Given the description of an element on the screen output the (x, y) to click on. 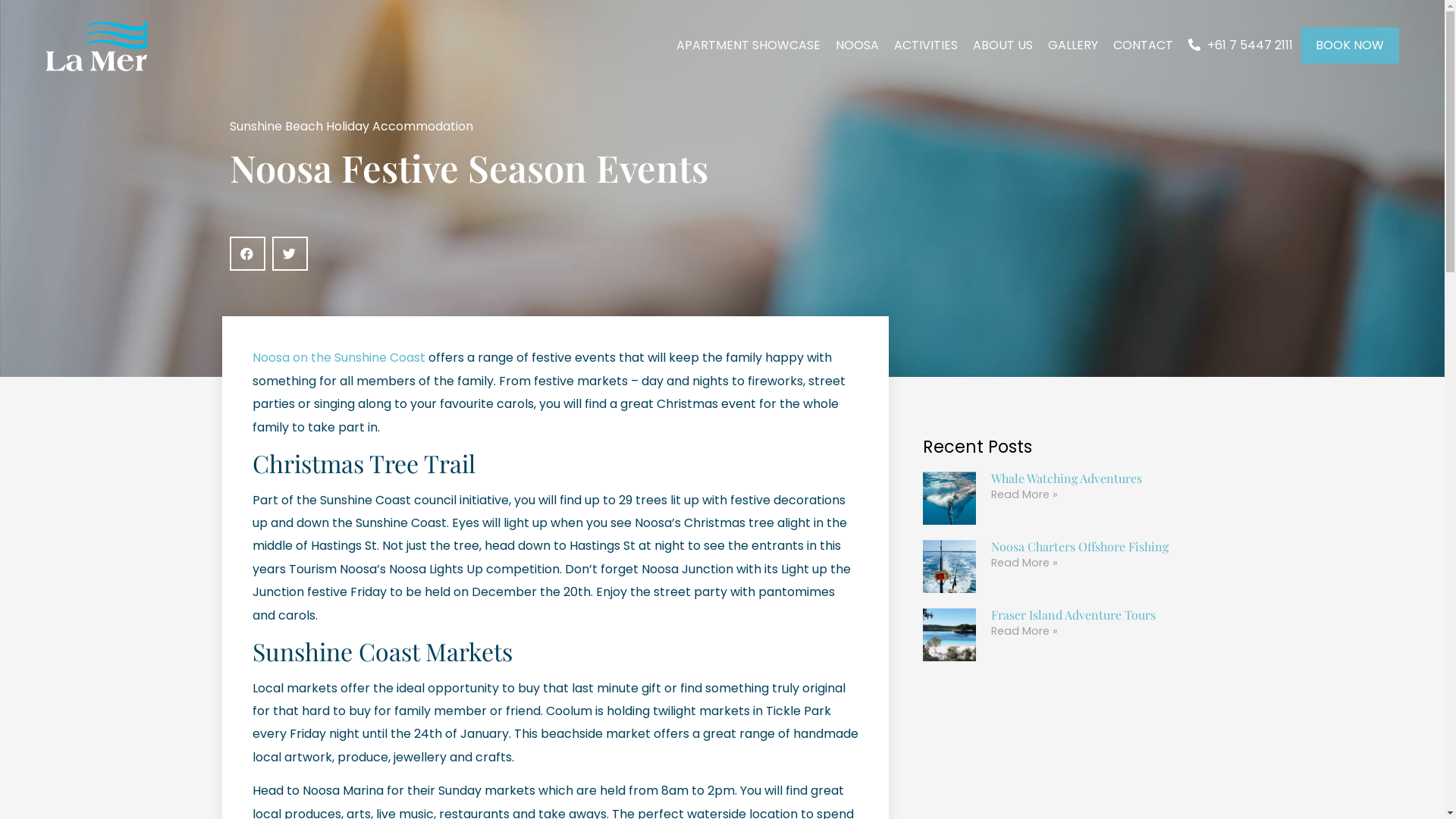
GALLERY Element type: text (1072, 45)
CONTACT Element type: text (1142, 45)
Whale Watching Adventures Element type: text (1066, 478)
Sunshine Beach Holiday Accommodation Element type: text (350, 125)
+61 7 5447 2111 Element type: text (1240, 45)
ACTIVITIES Element type: text (925, 45)
Fraser Island Adventure Tours Element type: text (1073, 614)
NOOSA Element type: text (857, 45)
APARTMENT SHOWCASE Element type: text (748, 45)
BOOK NOW Element type: text (1349, 45)
Noosa on the Sunshine Coast Element type: text (337, 357)
Noosa Charters Offshore Fishing Element type: text (1079, 546)
ABOUT US Element type: text (1002, 45)
